Given the description of an element on the screen output the (x, y) to click on. 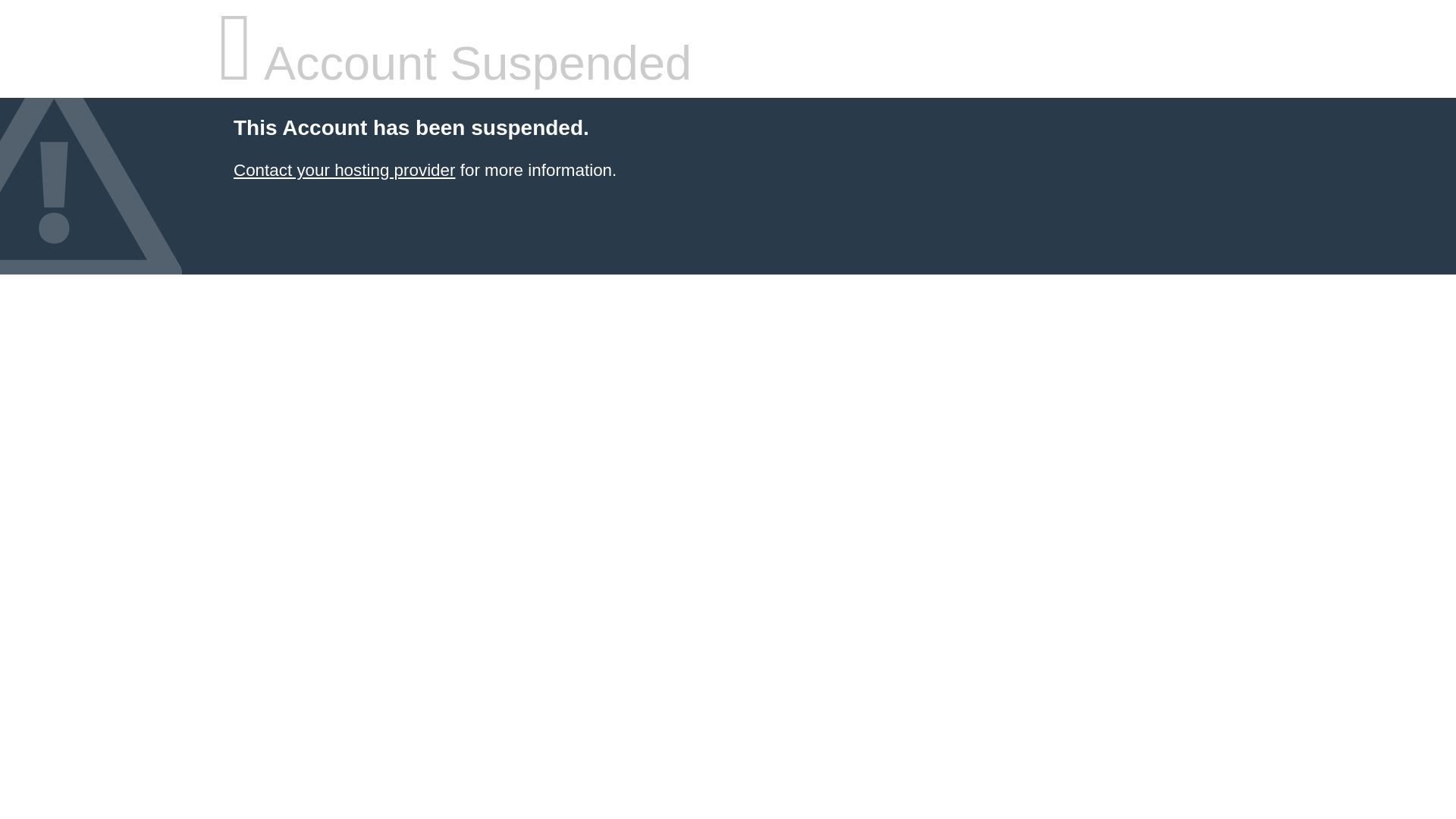
Contact your hosting provider (343, 169)
